Given the description of an element on the screen output the (x, y) to click on. 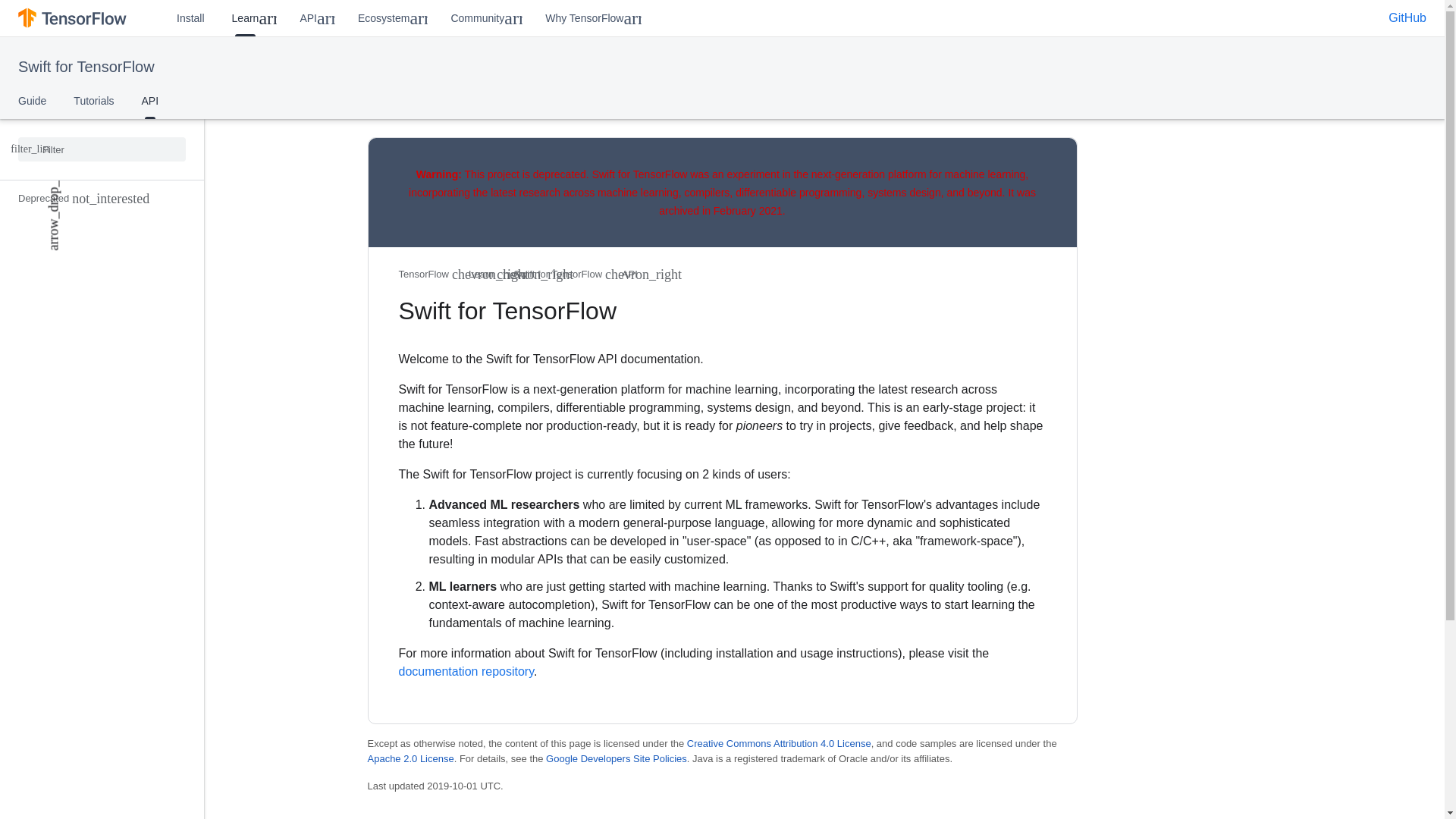
Install (190, 18)
Ecosystem (376, 18)
API (150, 100)
Learn (238, 18)
Guide (31, 100)
Community (469, 18)
Swift for TensorFlow (85, 66)
Why TensorFlow (577, 18)
Tutorials (93, 100)
GitHub (1406, 17)
